Given the description of an element on the screen output the (x, y) to click on. 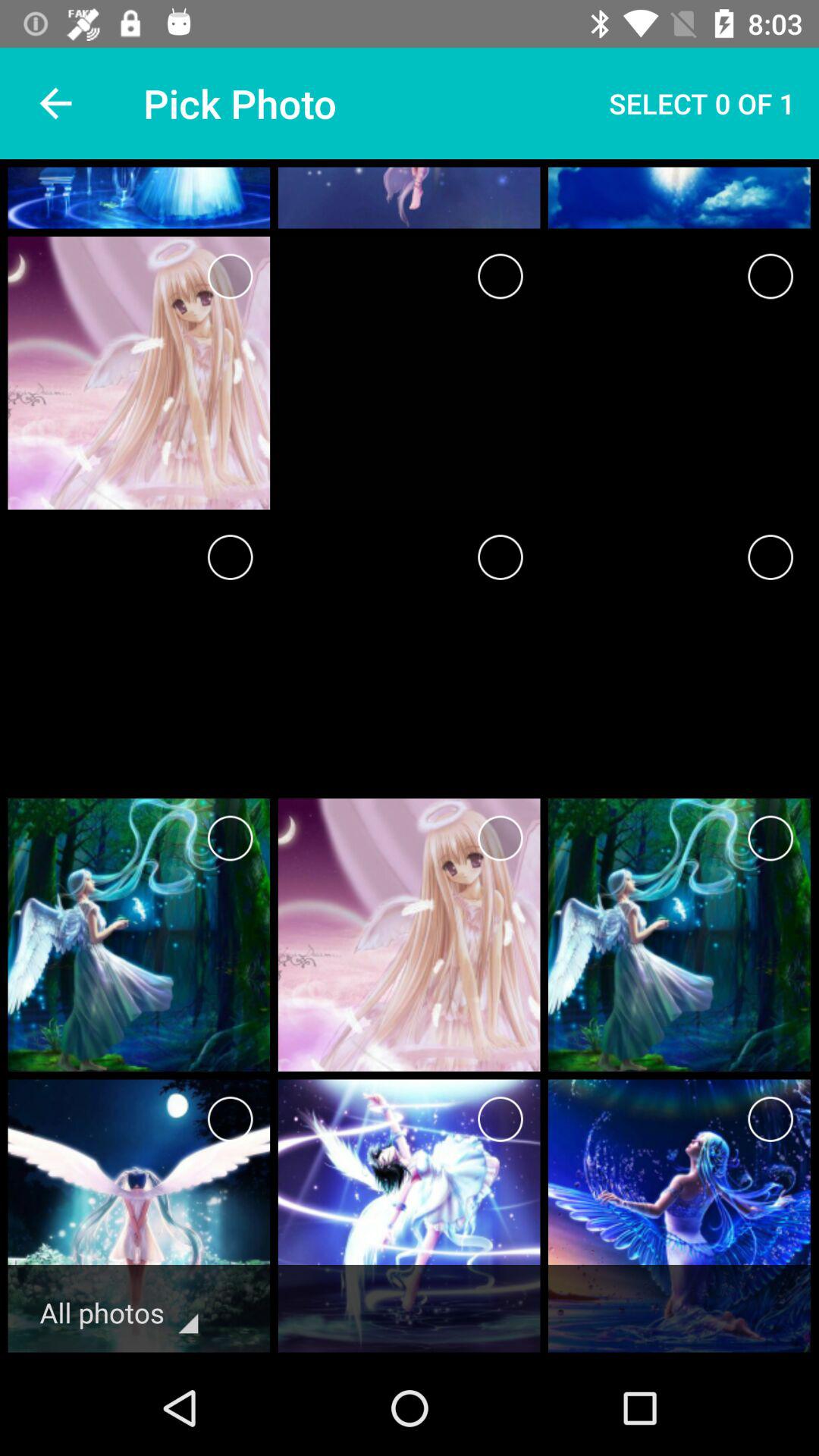
choose this icon (770, 276)
